Given the description of an element on the screen output the (x, y) to click on. 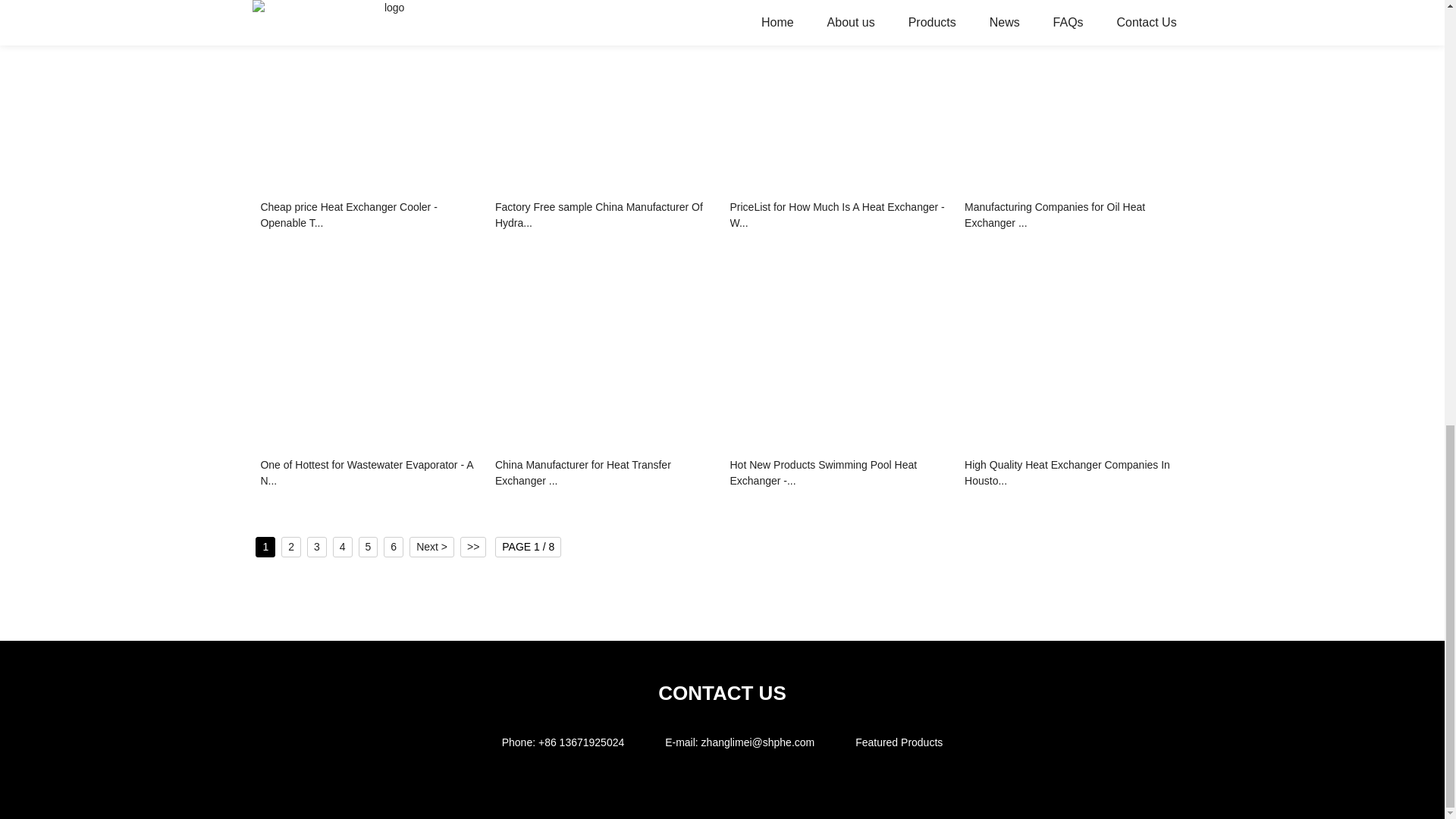
Cheap price Heat Exchanger Cooler - Openable T... (370, 216)
The Last Page (473, 547)
Factory Free sample China Manufacturer Of Hydra... (604, 216)
